Given the description of an element on the screen output the (x, y) to click on. 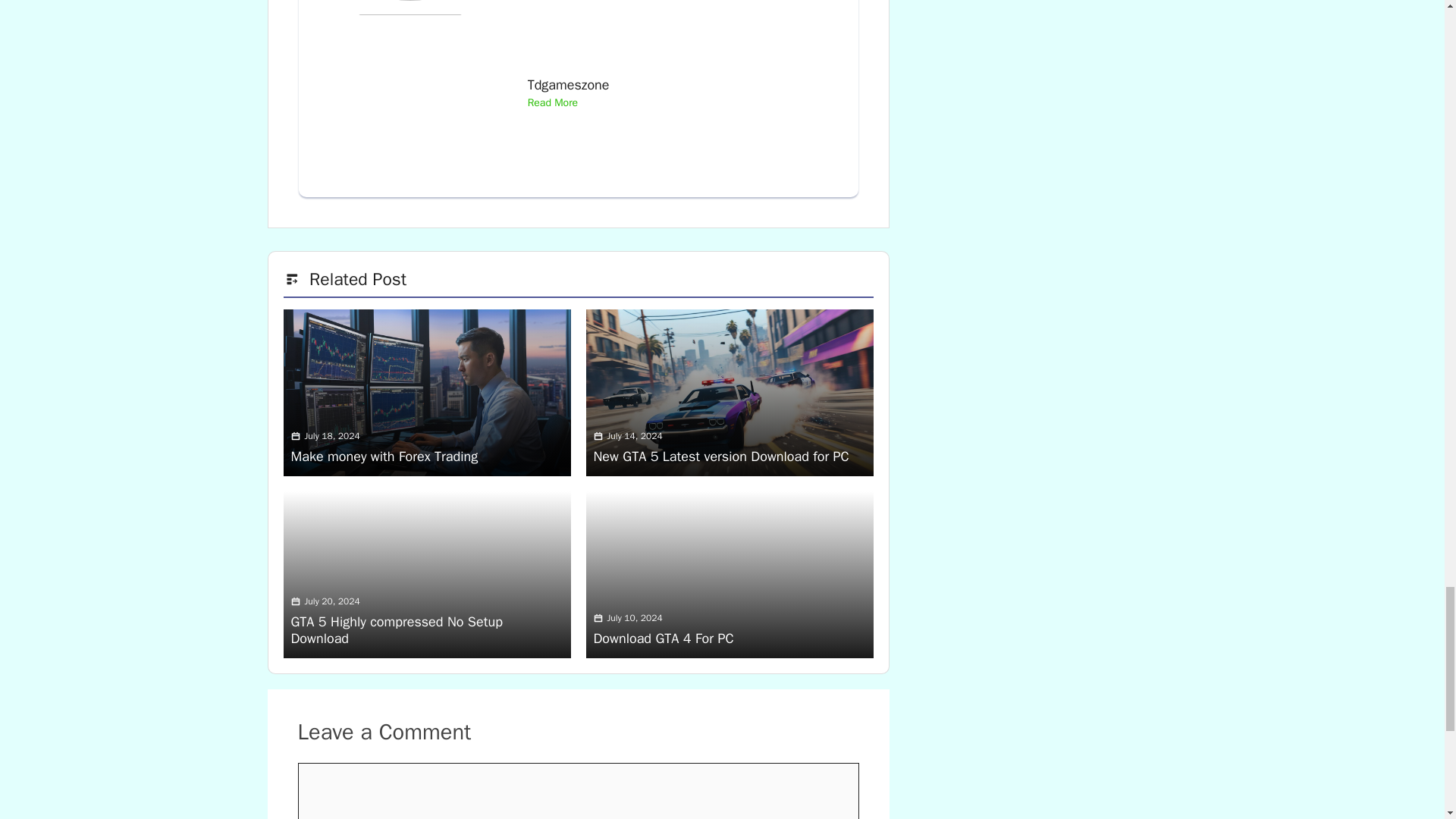
GTA 5 Highly compressed No Setup Download (396, 630)
New GTA 5 Latest version Download for PC (720, 456)
Make money with Forex Trading (385, 456)
Read More (552, 102)
Download GTA 4 For PC (662, 638)
Read more about this author (552, 102)
